Given the description of an element on the screen output the (x, y) to click on. 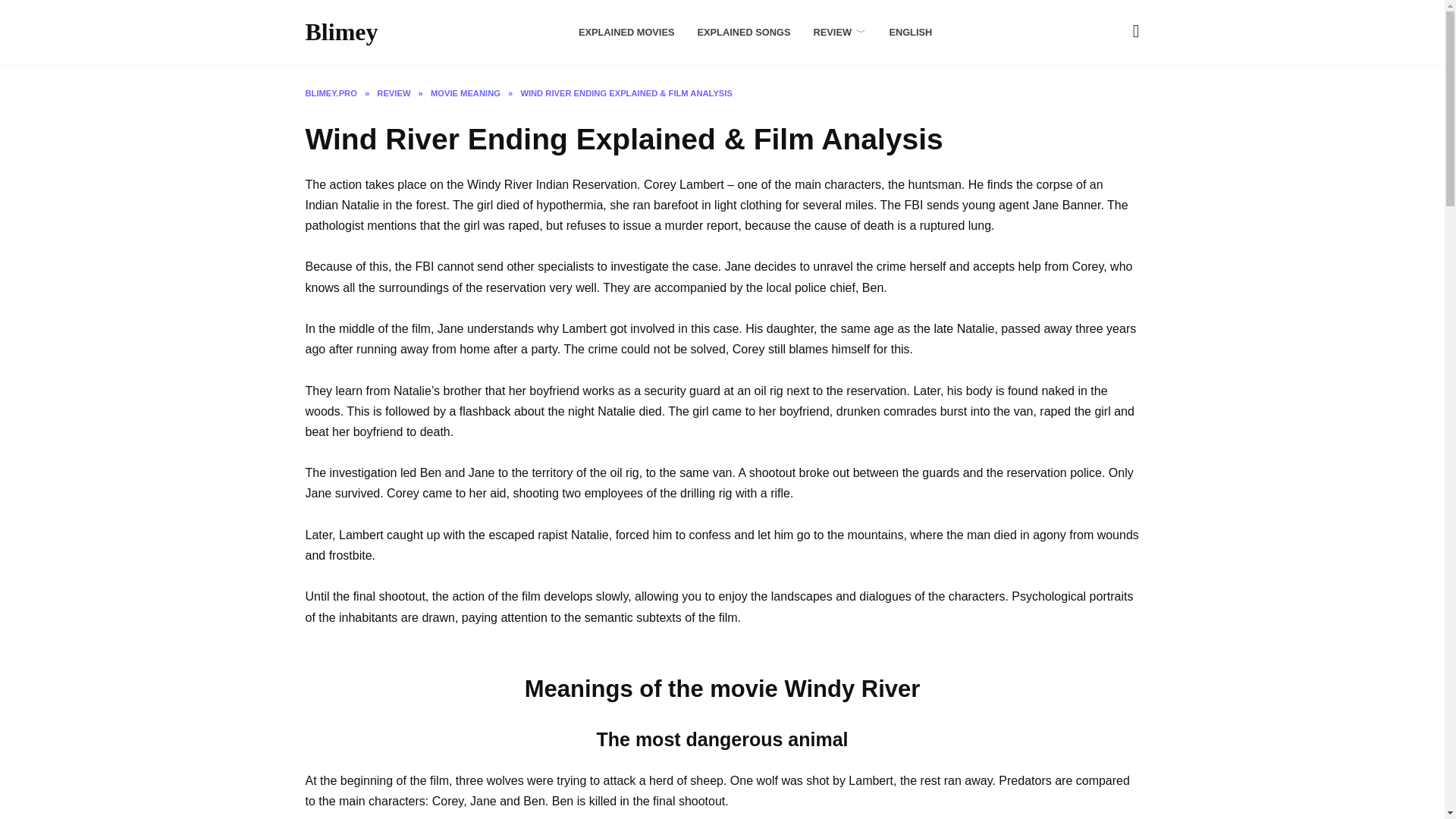
REVIEW (393, 92)
BLIMEY.PRO (330, 92)
EXPLAINED SONGS (743, 31)
MOVIE MEANING (465, 92)
ENGLISH (909, 31)
REVIEW (839, 31)
EXPLAINED MOVIES (626, 31)
Blimey (340, 31)
